Given the description of an element on the screen output the (x, y) to click on. 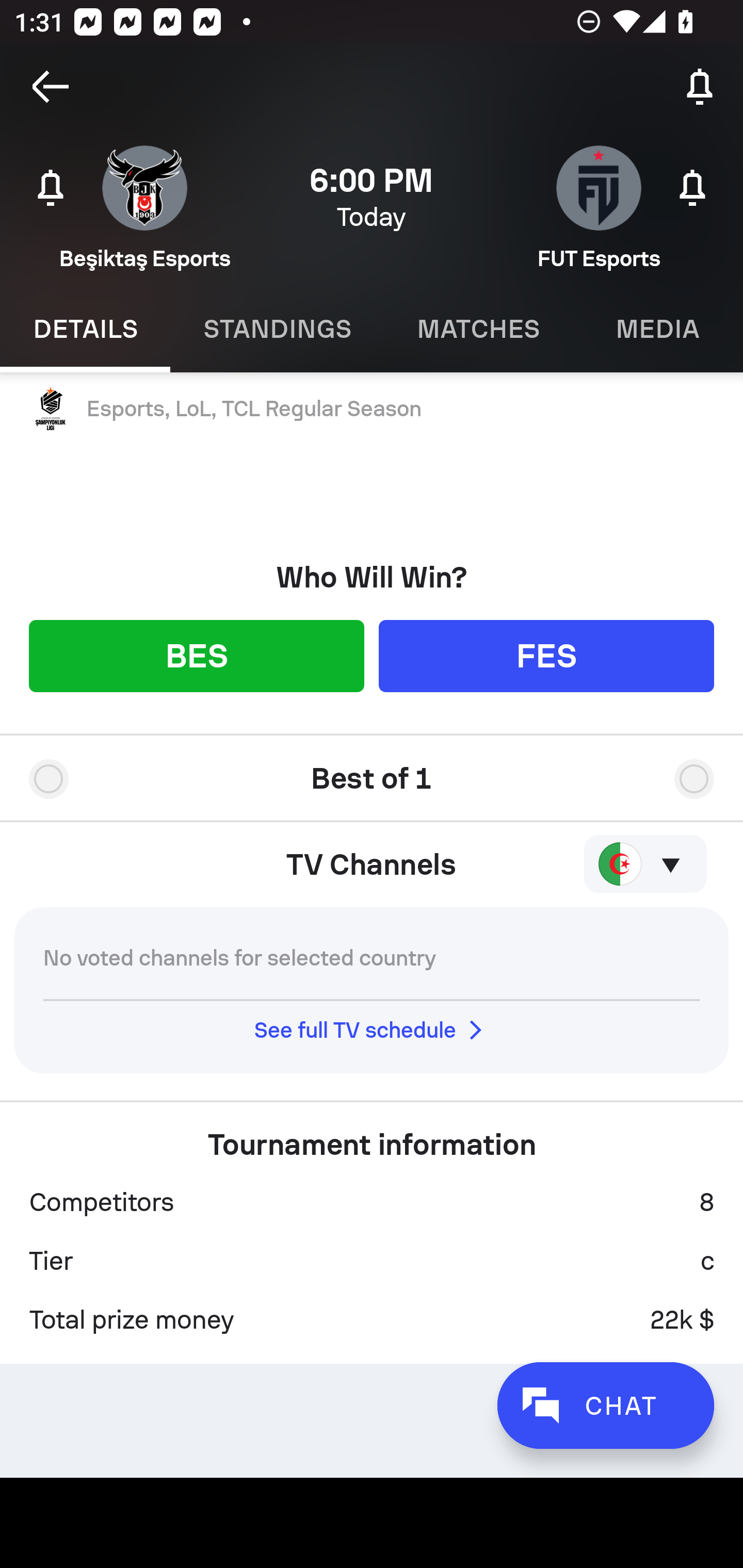
Navigate up (50, 86)
Standings STANDINGS (277, 329)
Matches MATCHES (478, 329)
Media MEDIA (657, 329)
Esports, LoL, TCL Regular Season (371, 409)
BES (196, 655)
FES (546, 655)
Best of 1 (371, 771)
See full TV schedule (371, 1029)
CHAT (605, 1405)
